Given the description of an element on the screen output the (x, y) to click on. 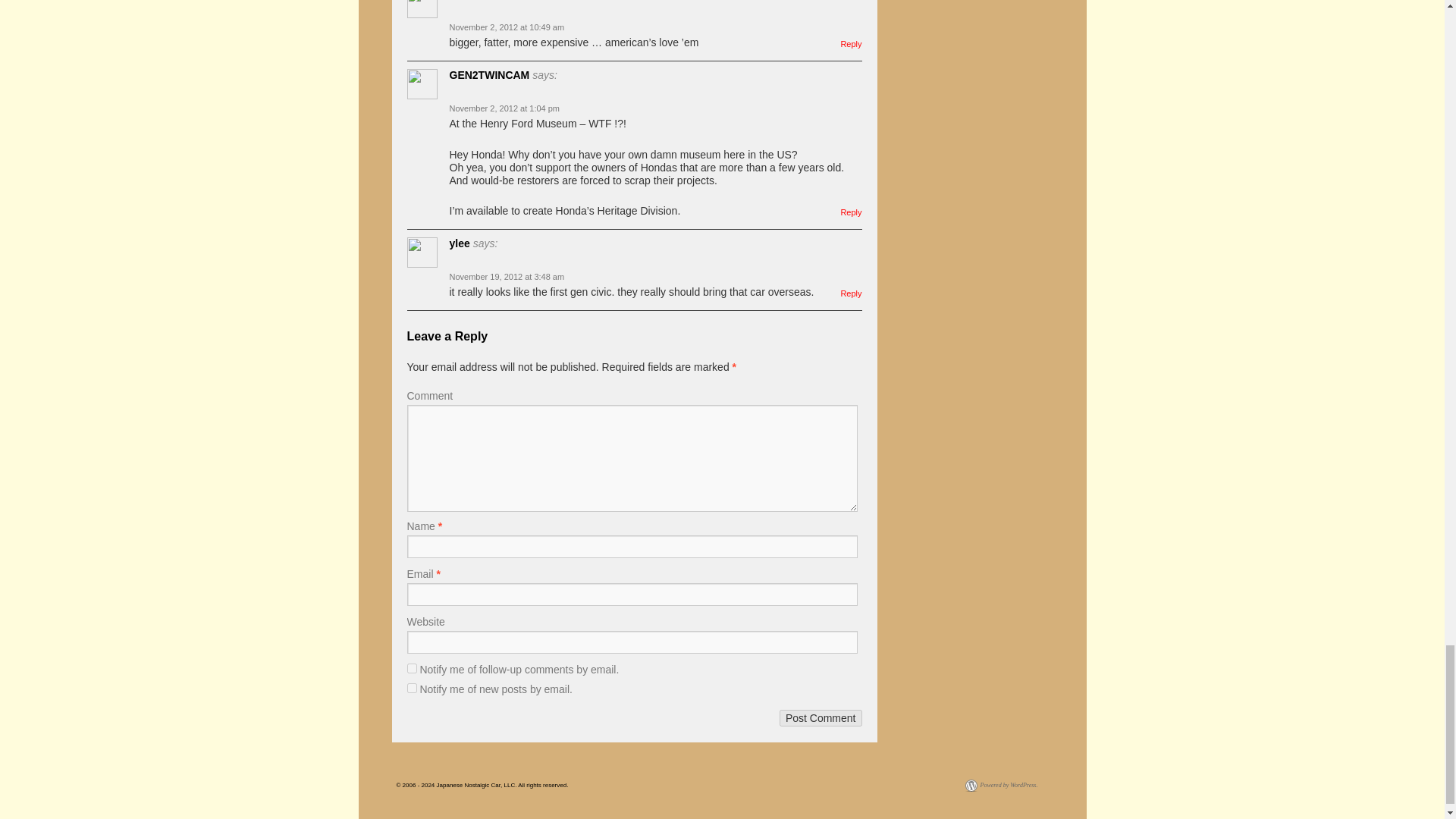
November 2, 2012 at 10:49 am (506, 26)
subscribe (411, 687)
Reply (850, 293)
Post Comment (819, 718)
Reply (850, 43)
Post Comment (819, 718)
November 2, 2012 at 1:04 pm (503, 108)
November 19, 2012 at 3:48 am (506, 276)
subscribe (411, 668)
Reply (850, 212)
